Given the description of an element on the screen output the (x, y) to click on. 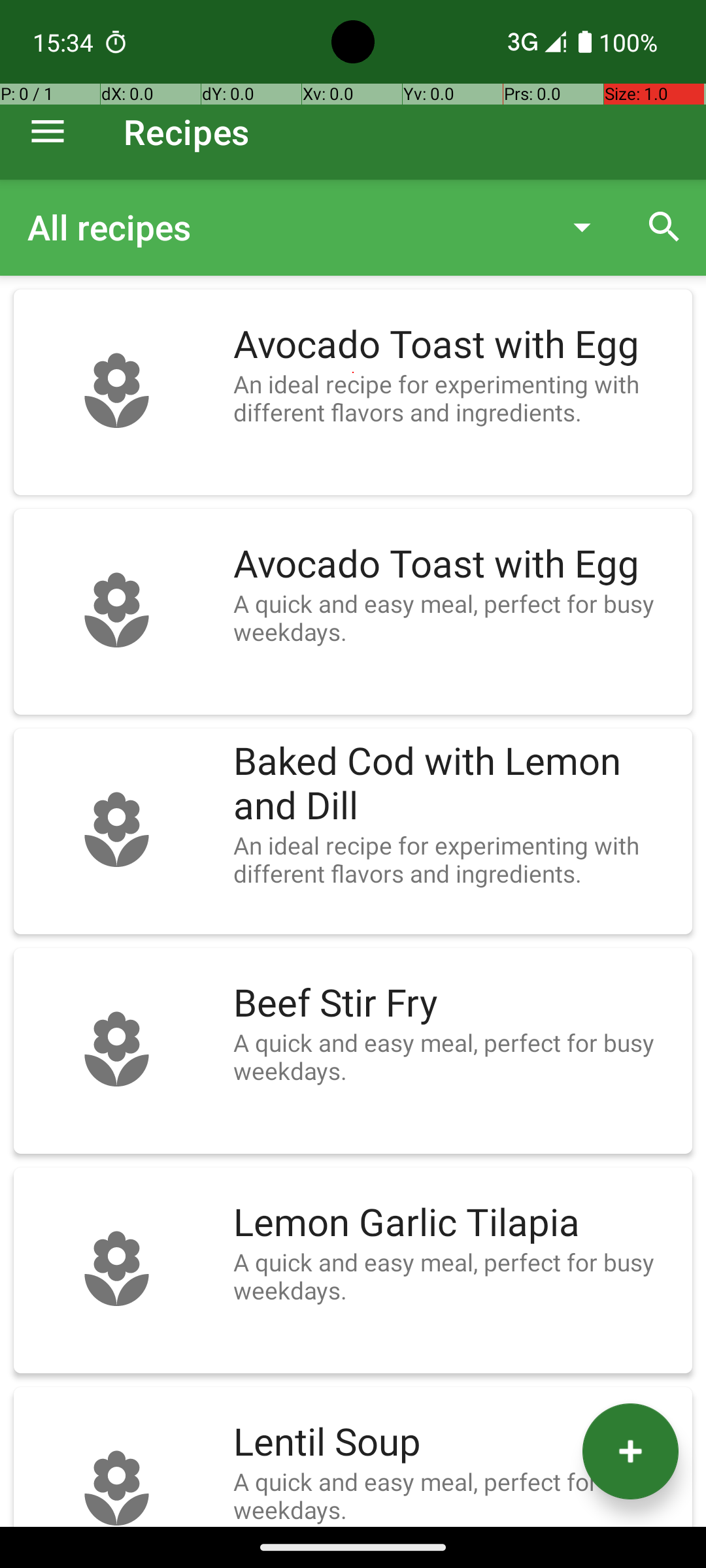
Lemon Garlic Tilapia Element type: android.widget.TextView (455, 1222)
Lentil Soup Element type: android.widget.TextView (455, 1442)
